Given the description of an element on the screen output the (x, y) to click on. 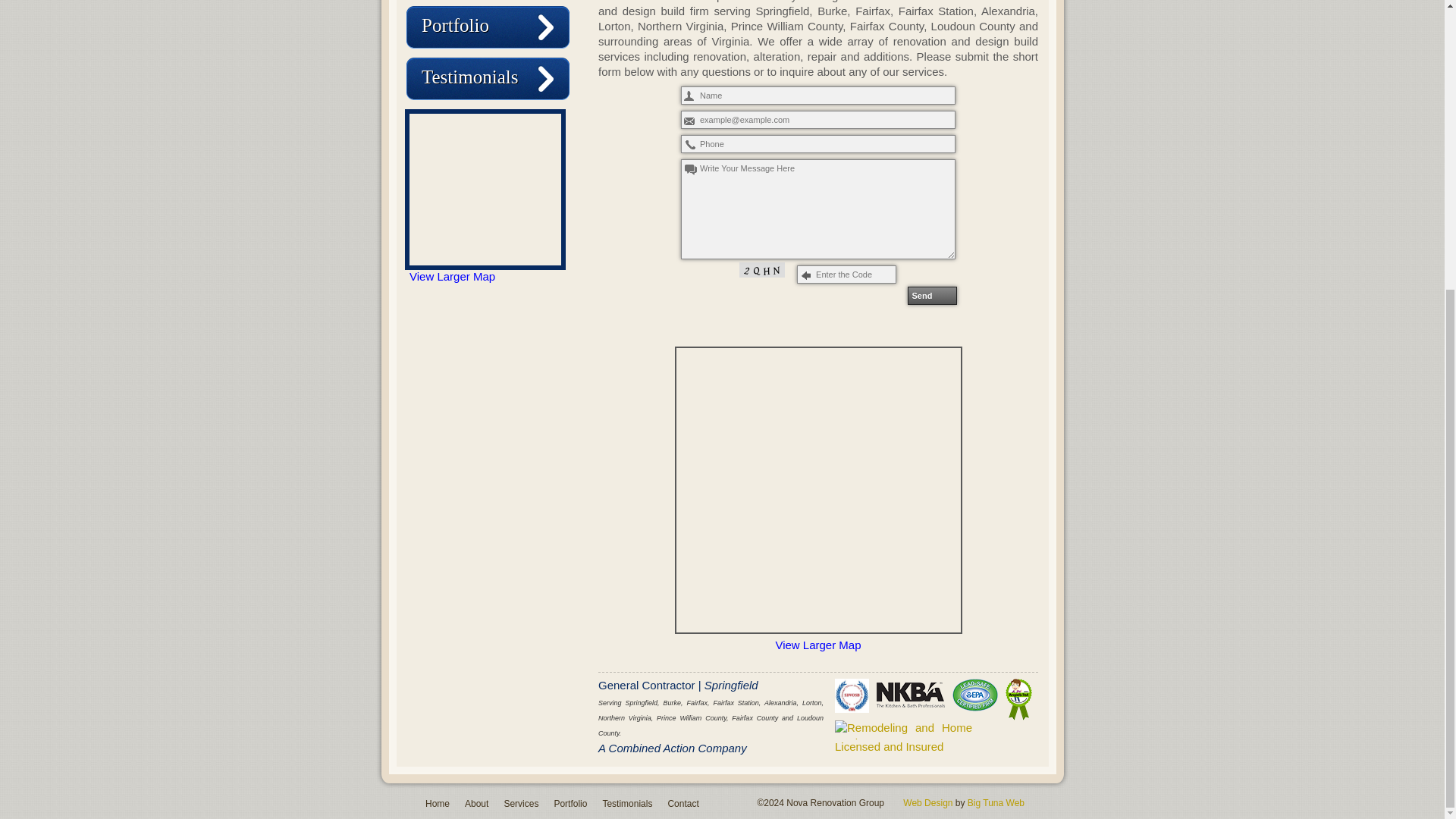
Web Design (927, 802)
View Larger Map (452, 276)
Contact (682, 803)
About (475, 803)
Big Tuna Web (996, 802)
Home (437, 803)
Send (931, 295)
Testimonials (470, 76)
Portfolio (569, 803)
Testimonials (627, 803)
Licensed and Insured (933, 715)
Services (520, 803)
View Larger Map (817, 644)
Send (931, 295)
Portfolio (455, 25)
